Given the description of an element on the screen output the (x, y) to click on. 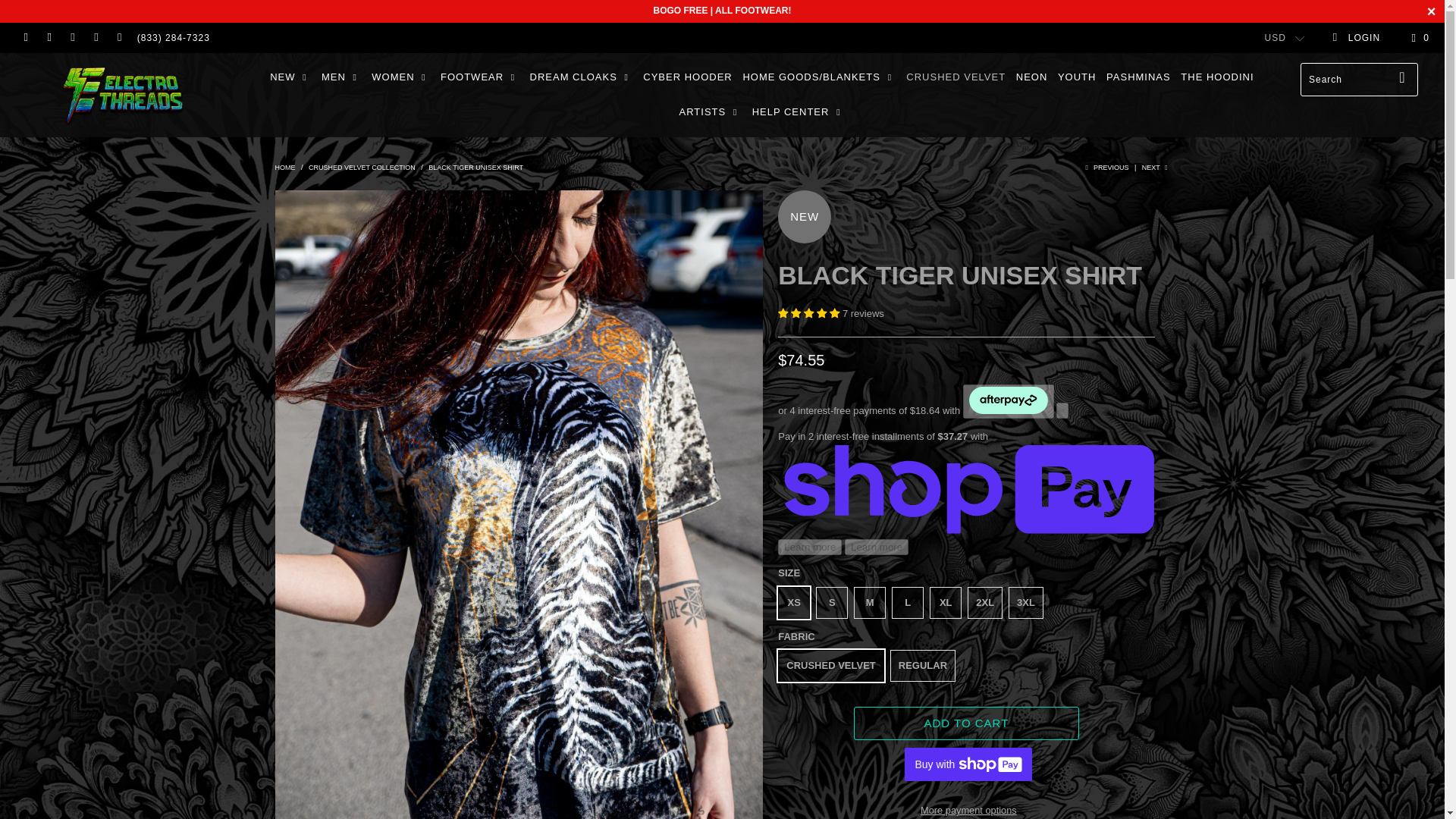
Email Electro Threads (118, 37)
Next (1155, 167)
Previous (1104, 167)
Electro Threads (122, 94)
My Account  (1355, 37)
Electro Threads (285, 167)
Electro Threads on Instagram (94, 37)
Electro Threads on Facebook (48, 37)
Electro Threads on Twitter (25, 37)
Electro Threads on YouTube (71, 37)
Crushed Velvet Collection (361, 167)
